Given the description of an element on the screen output the (x, y) to click on. 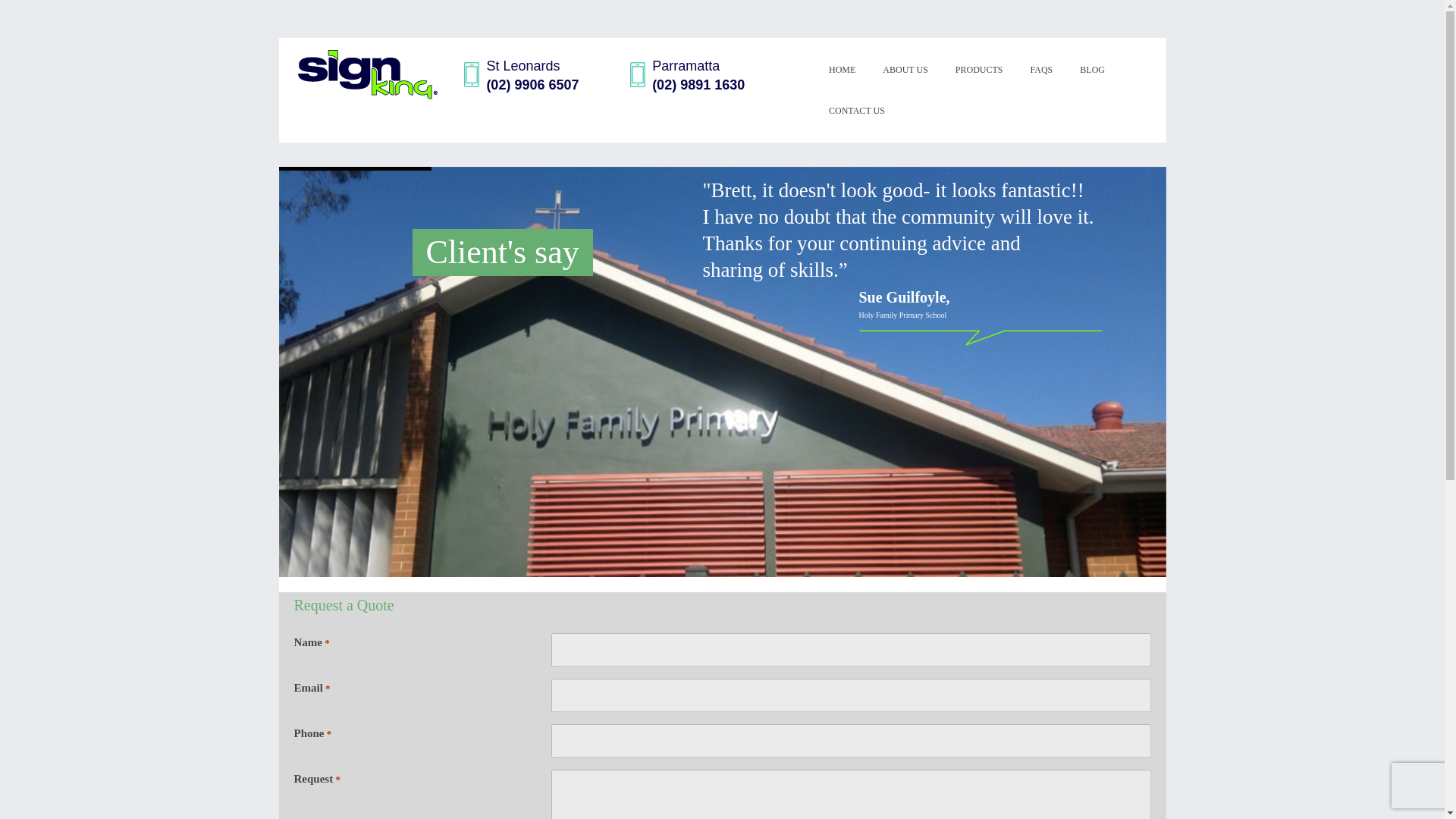
CONTACT US (850, 110)
HOME (842, 69)
FAQS (1040, 69)
ABOUT US (904, 69)
PRODUCTS (979, 69)
BLOG (1091, 69)
